Given the description of an element on the screen output the (x, y) to click on. 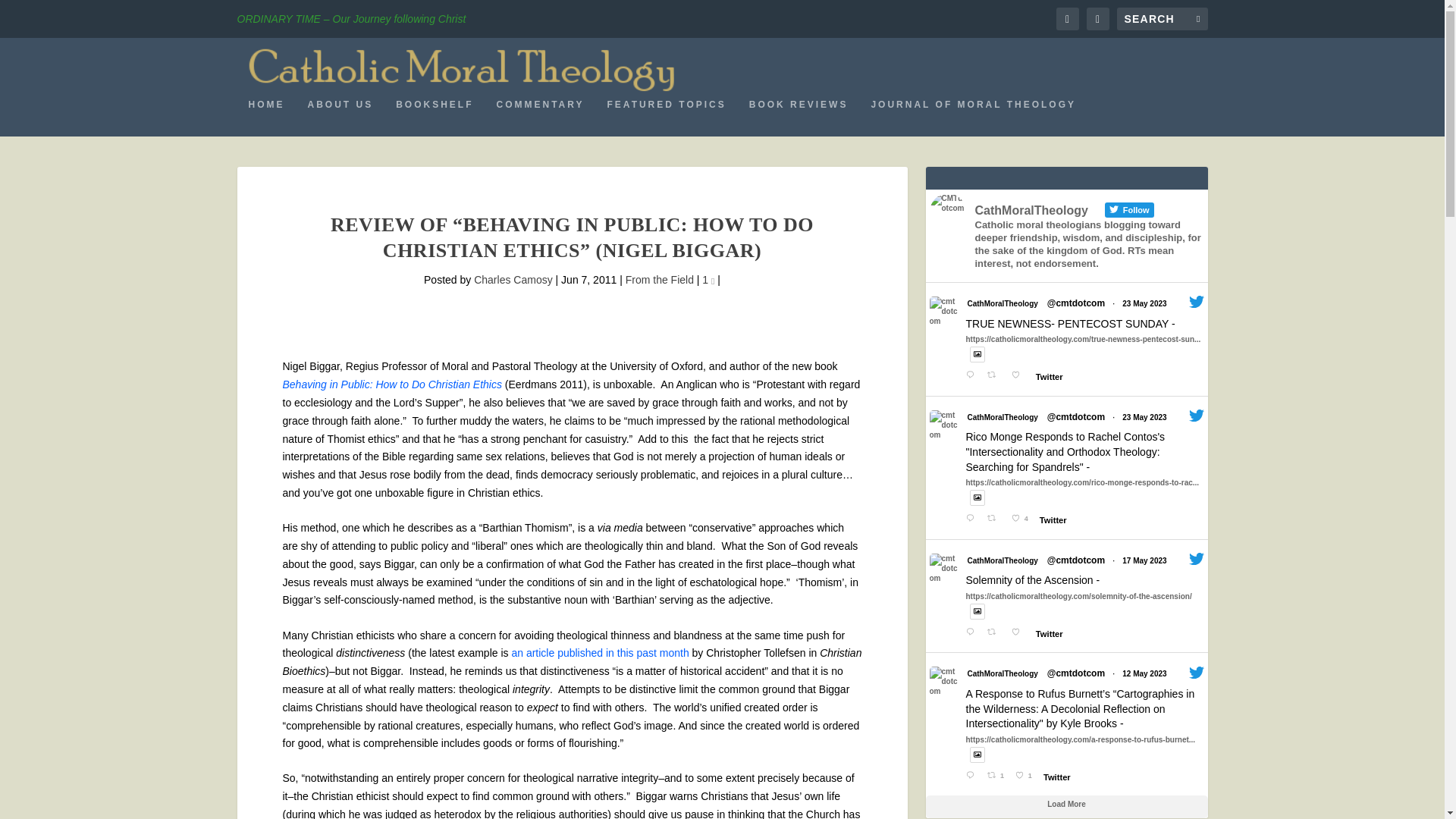
1 (707, 279)
Posts by Charles Camosy (512, 279)
ABOUT US (340, 117)
JOURNAL OF MORAL THEOLOGY (972, 117)
an article published in this past month (599, 653)
FEATURED TOPICS (666, 117)
BOOK REVIEWS (798, 117)
HOME (266, 117)
COMMENTARY (540, 117)
From the Field (660, 279)
Search for: (1161, 18)
BOOKSHELF (434, 117)
Charles Camosy (512, 279)
Behaving in Public: How to Do Christian Ethics (391, 384)
